Given the description of an element on the screen output the (x, y) to click on. 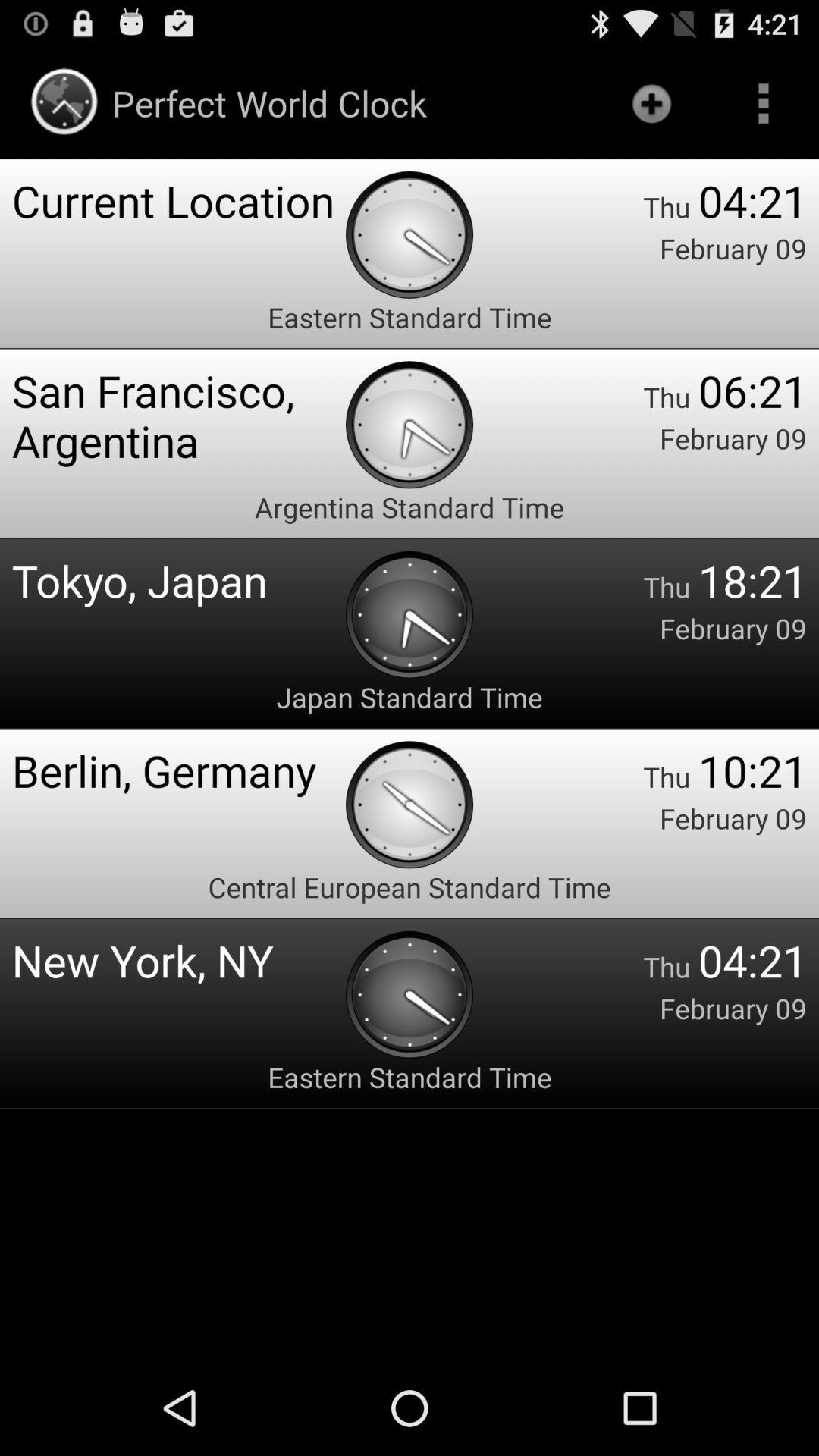
swipe to the central european standard (409, 887)
